Given the description of an element on the screen output the (x, y) to click on. 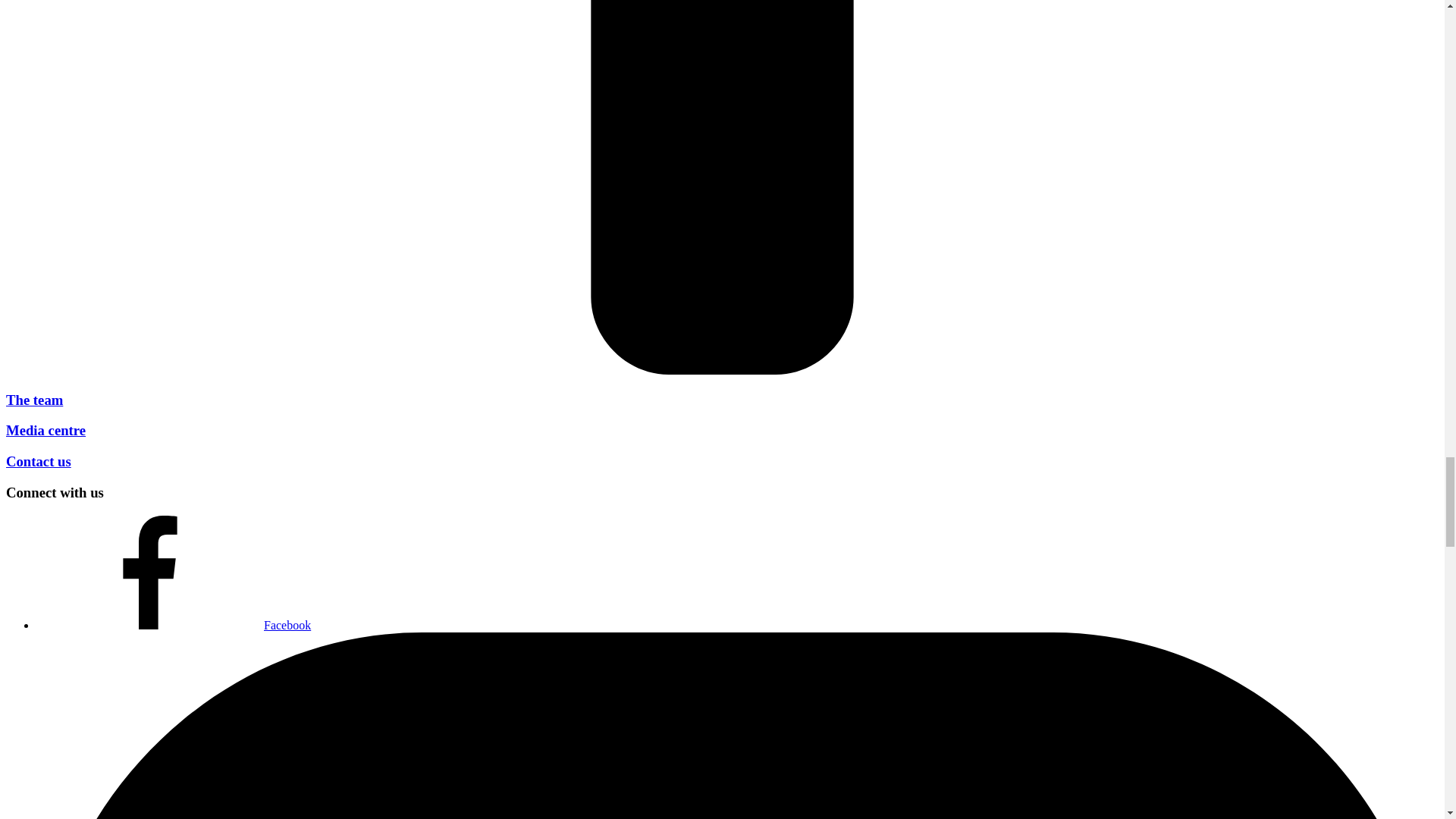
Contact us (38, 461)
Facebook (173, 625)
Media centre (45, 430)
The team (33, 399)
